Given the description of an element on the screen output the (x, y) to click on. 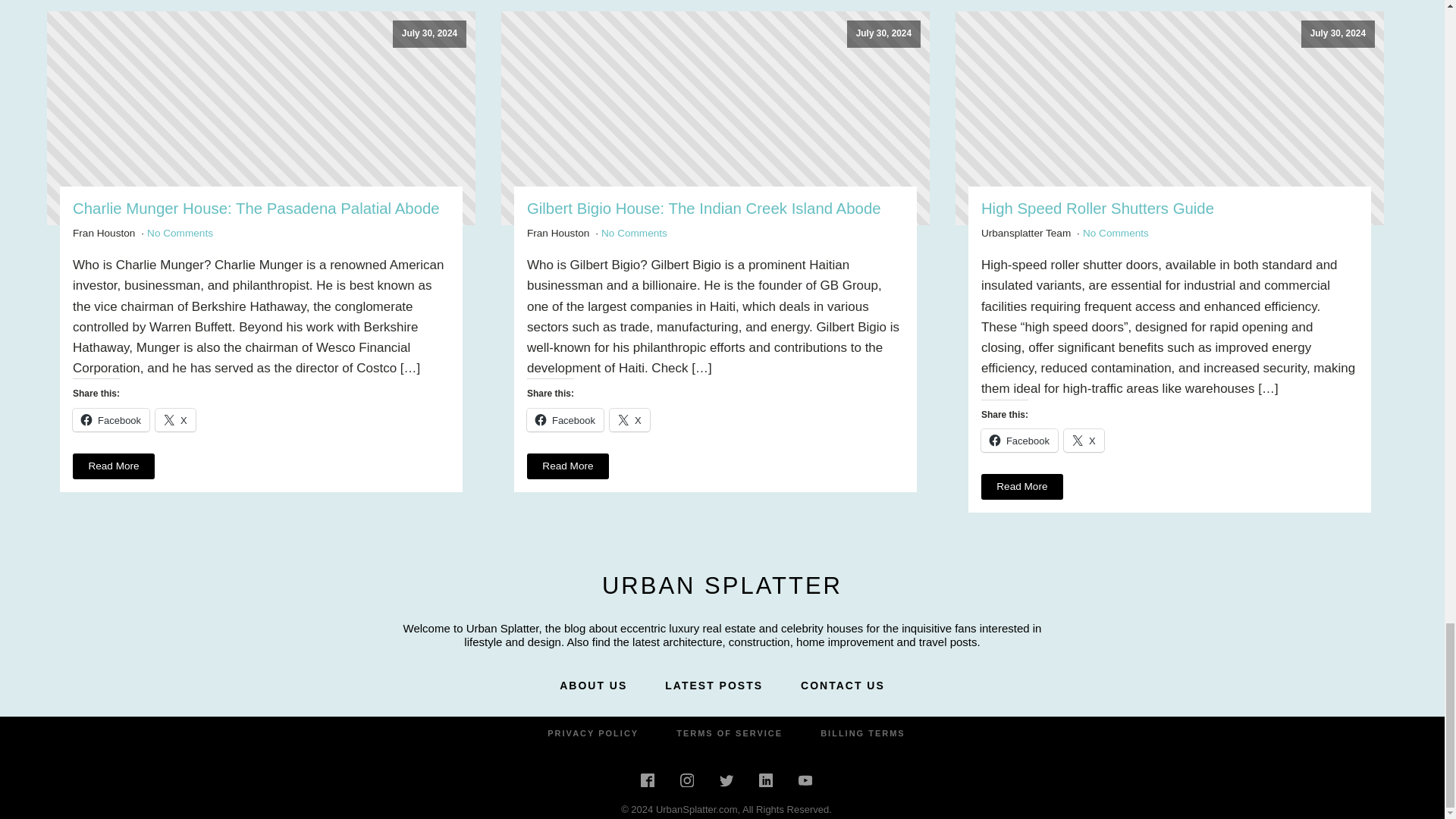
Click to share on Facebook (1019, 440)
Click to share on X (629, 419)
Click to share on Facebook (565, 419)
Click to share on Facebook (110, 419)
Click to share on X (175, 419)
Click to share on X (1083, 440)
